Given the description of an element on the screen output the (x, y) to click on. 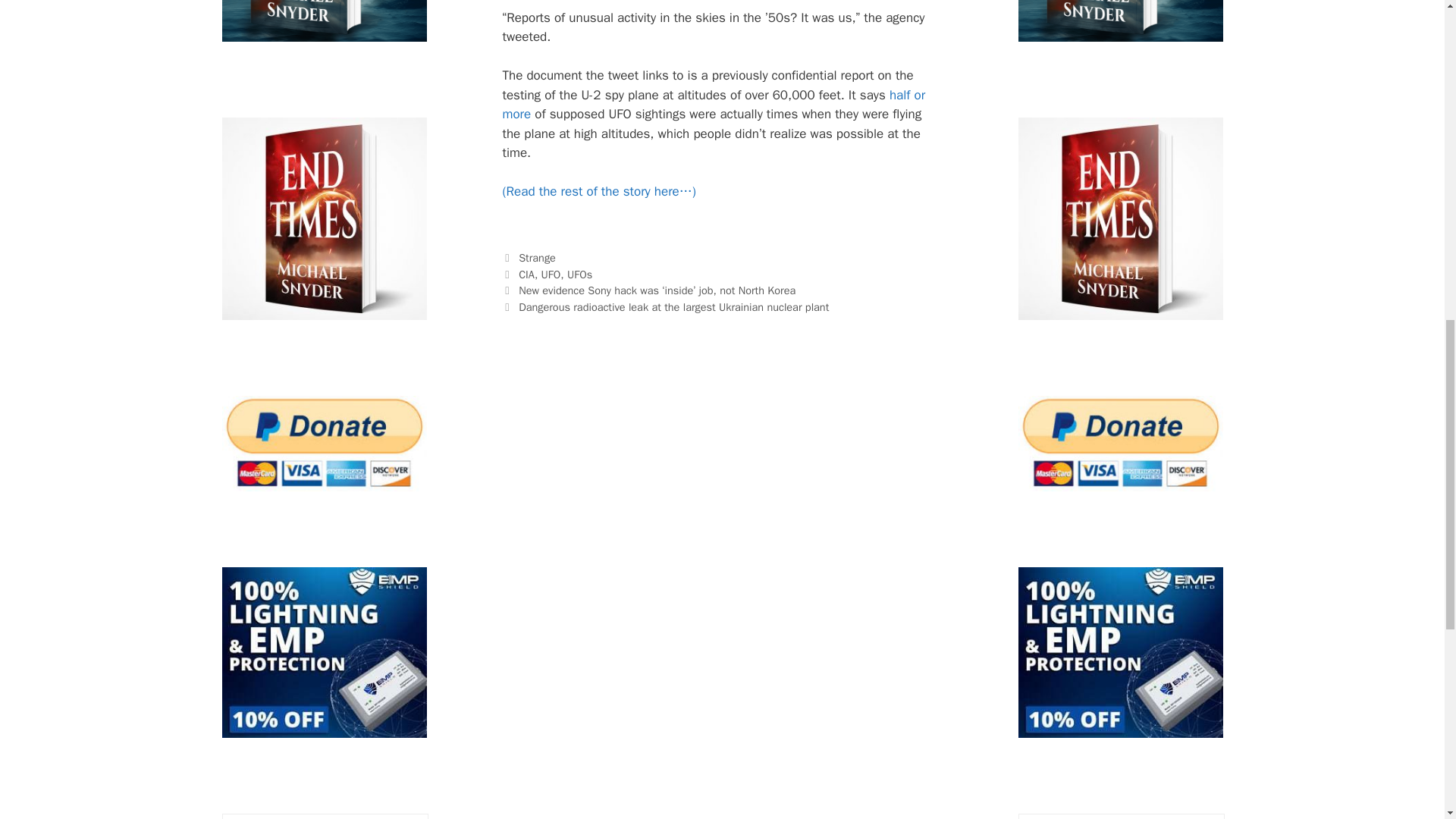
CIA (526, 274)
Next (665, 306)
CIA (526, 274)
Previous (648, 290)
UFO (550, 274)
Strange (537, 257)
UFOs (579, 274)
UFO (550, 274)
half or more (713, 104)
UFOs (579, 274)
half or more (713, 104)
Strange (537, 257)
